Given the description of an element on the screen output the (x, y) to click on. 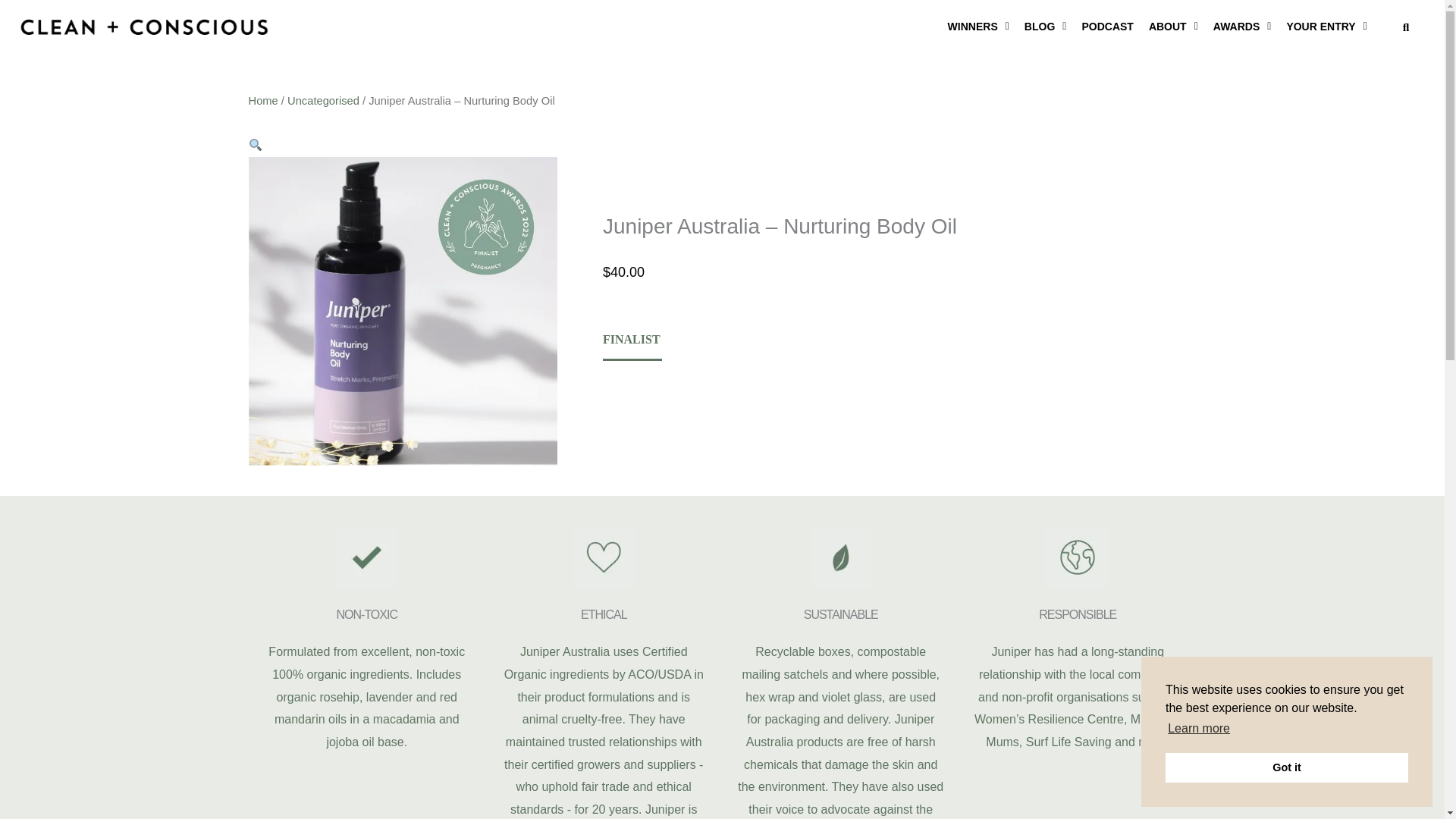
AWARDS (1242, 26)
WINNERS (978, 26)
PODCAST (1107, 26)
ABOUT (1173, 26)
BLOG (1045, 26)
